Given the description of an element on the screen output the (x, y) to click on. 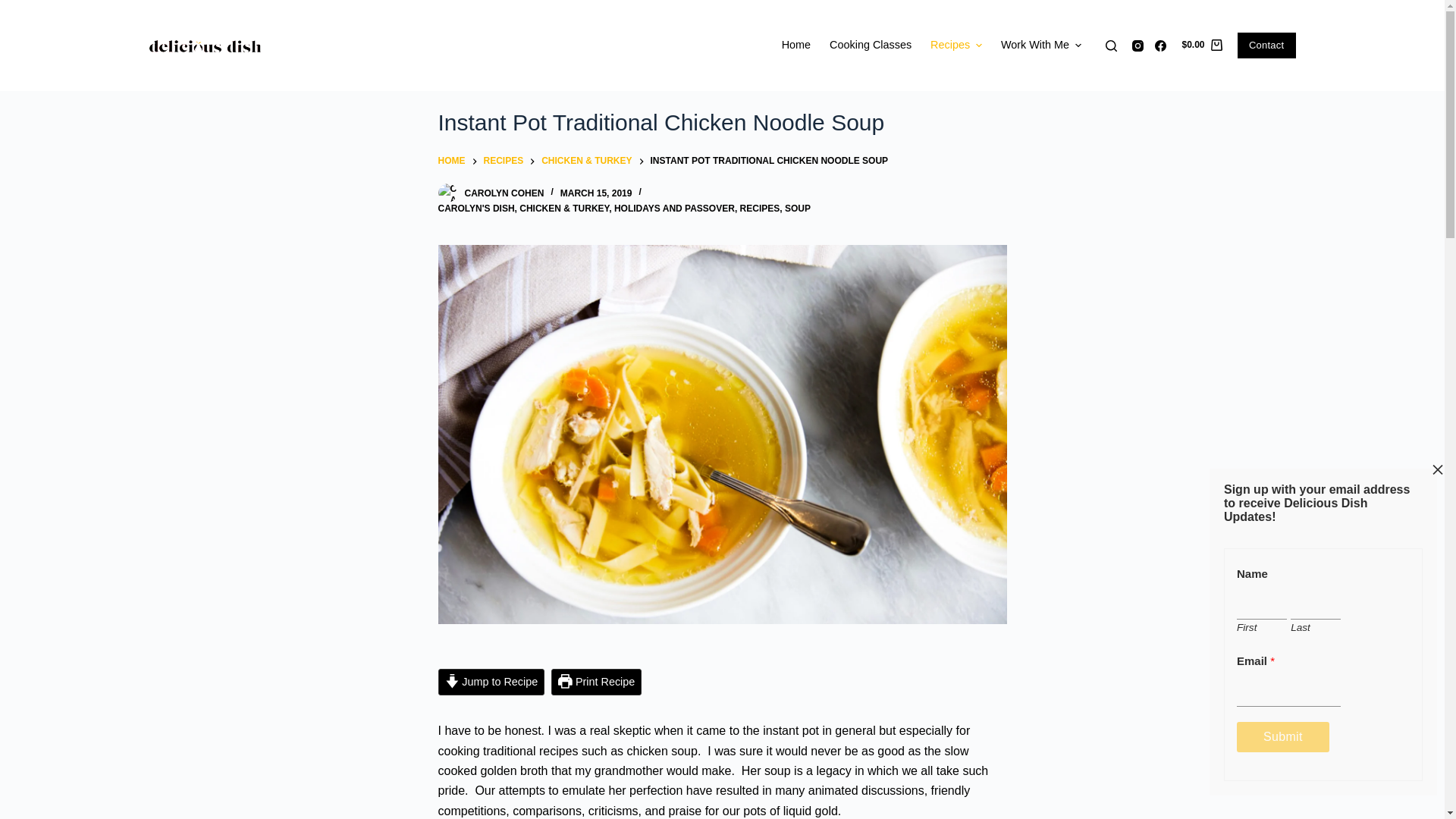
Cooking Classes (871, 45)
Skip to content (15, 7)
Instant Pot Traditional Chicken Noodle Soup (722, 122)
Posts by Carolyn Cohen (503, 193)
